Given the description of an element on the screen output the (x, y) to click on. 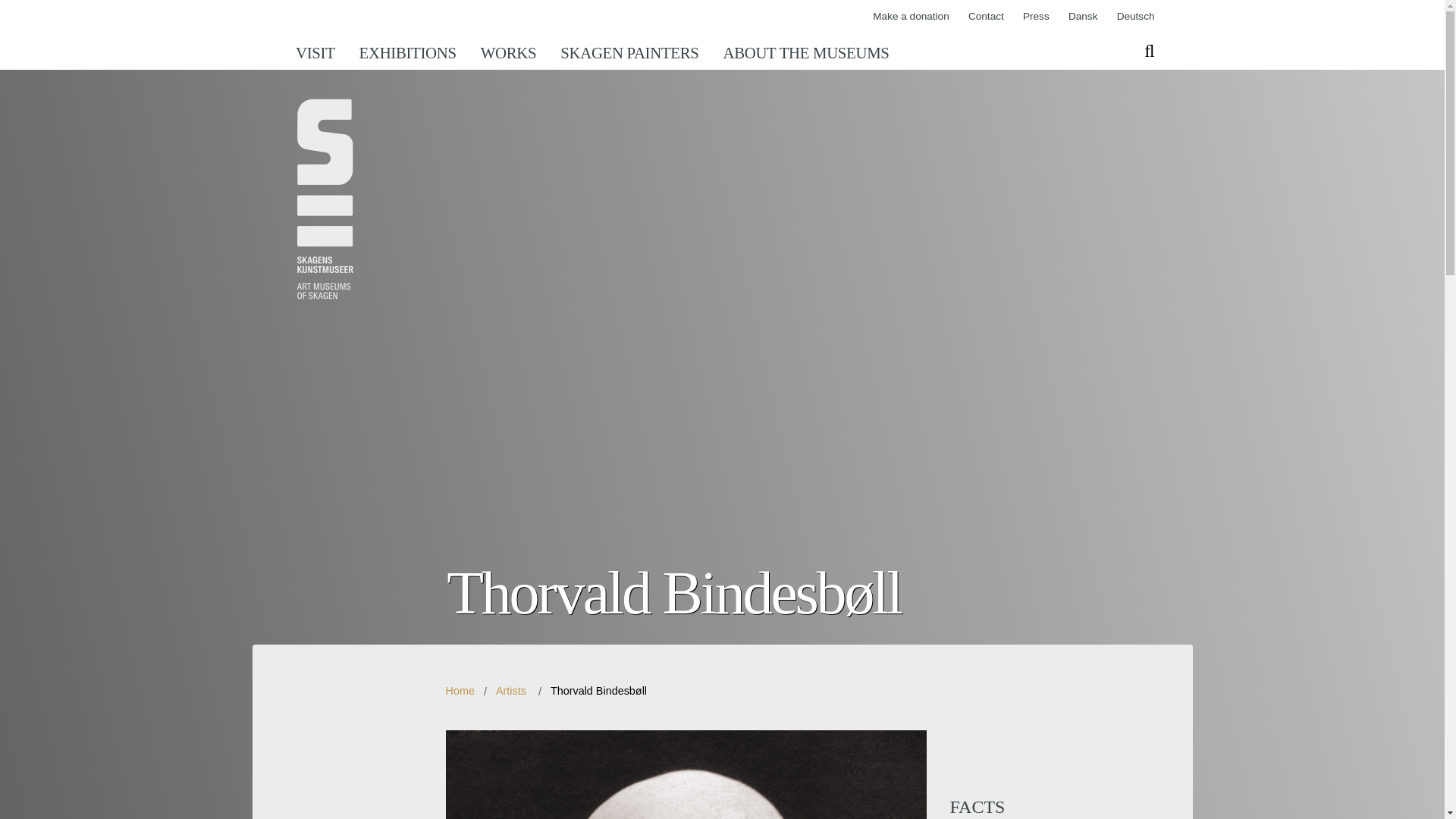
EXHIBITIONS (407, 52)
Dansk (1082, 16)
VISIT (321, 52)
Press (1036, 16)
Deutsch (1135, 16)
ABOUT THE MUSEUMS (805, 52)
Artists (510, 690)
WORKS (508, 52)
Contact (986, 16)
SKAGEN PAINTERS (629, 52)
Home (459, 690)
Make a donation (910, 16)
